Given the description of an element on the screen output the (x, y) to click on. 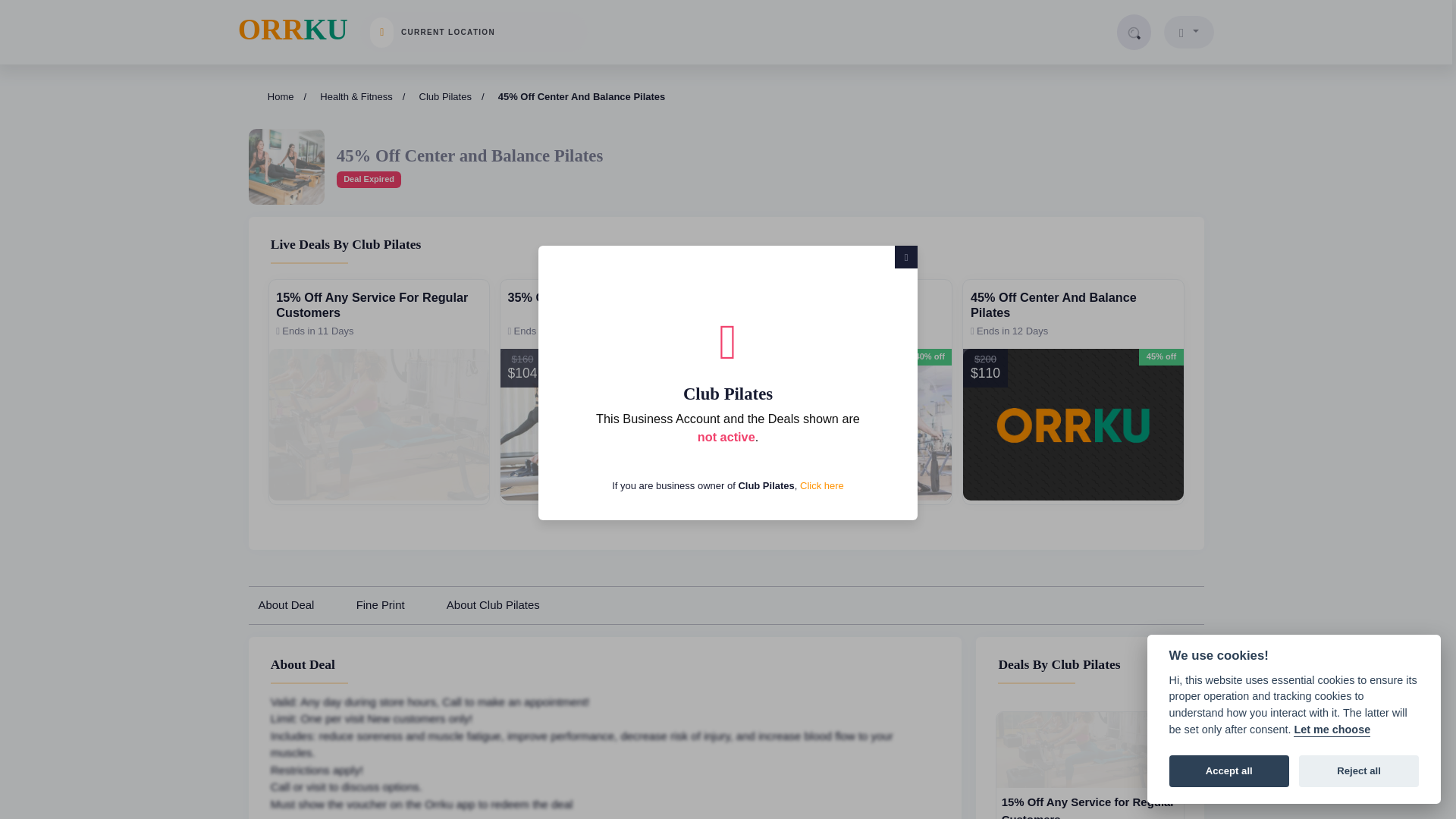
Click here (292, 29)
Home (821, 485)
Club Pilates (280, 96)
